Given the description of an element on the screen output the (x, y) to click on. 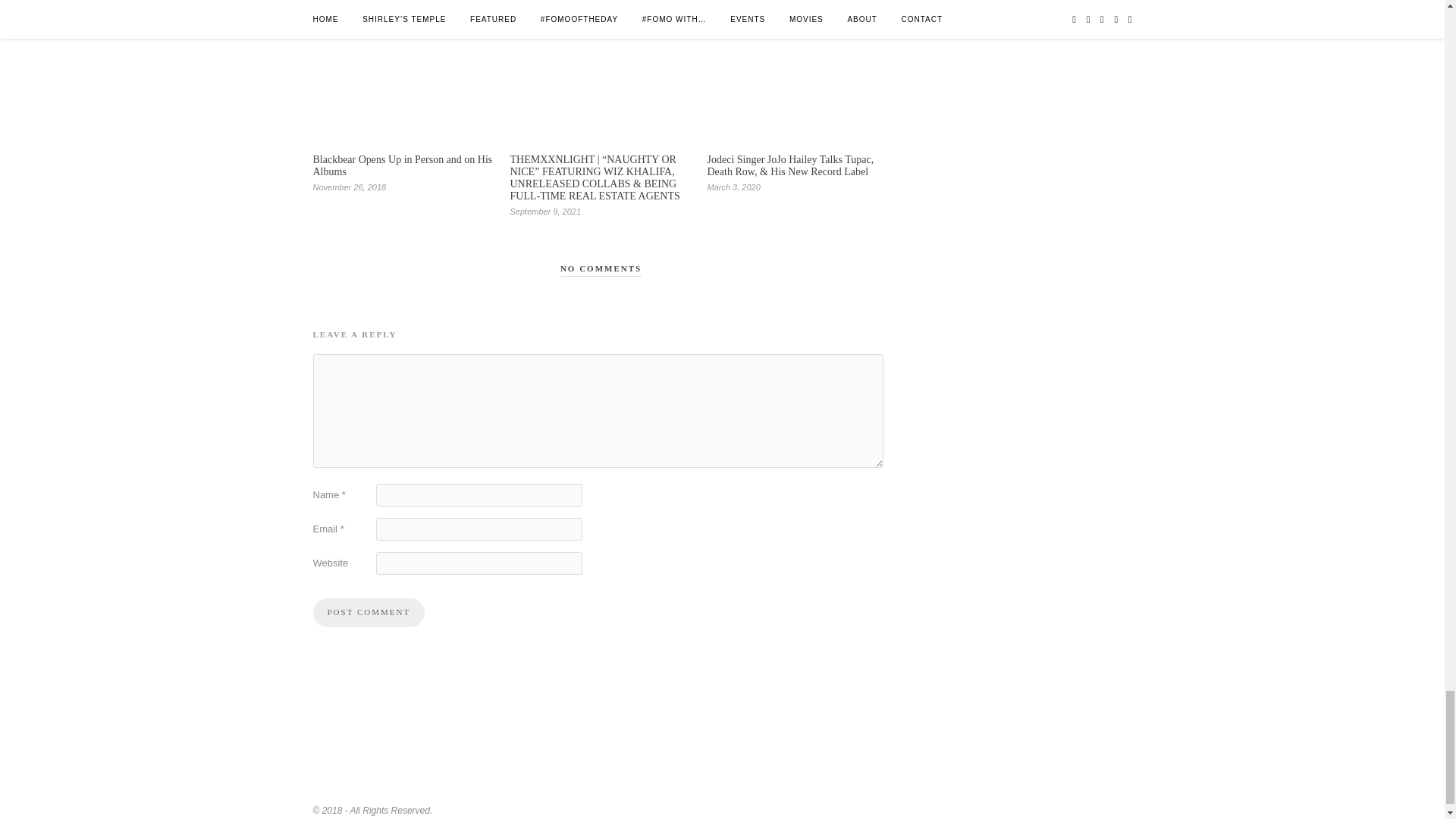
Post Comment (369, 612)
